Given the description of an element on the screen output the (x, y) to click on. 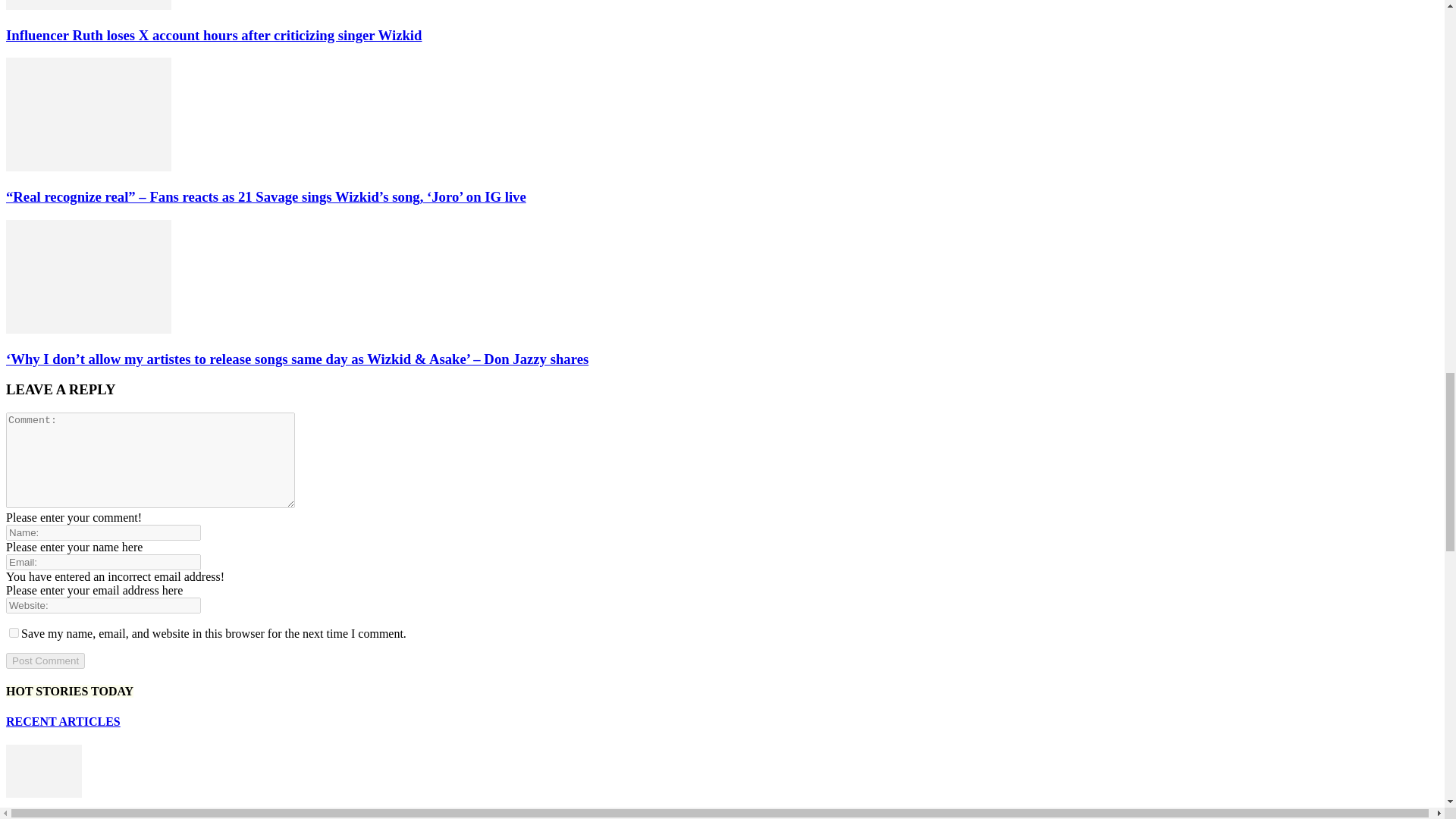
yes (13, 633)
Post Comment (44, 660)
